Given the description of an element on the screen output the (x, y) to click on. 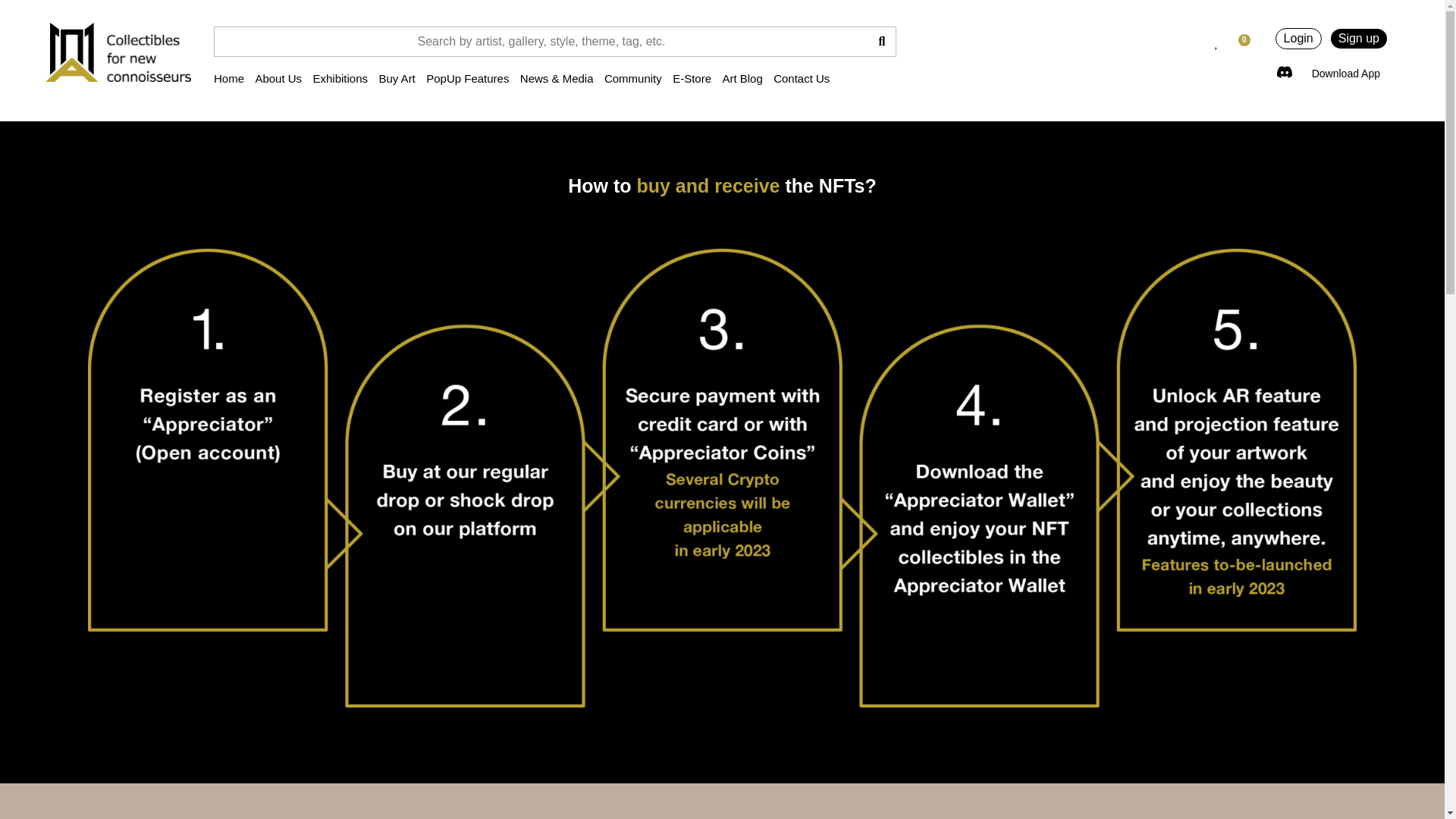
Buy Art (396, 78)
E-Store (691, 78)
Home (229, 78)
Contact Us (801, 78)
Sign up (1358, 38)
Download App (1345, 74)
Search (540, 41)
About Us (277, 78)
PopUp Features (467, 78)
Art Blog (741, 78)
